Given the description of an element on the screen output the (x, y) to click on. 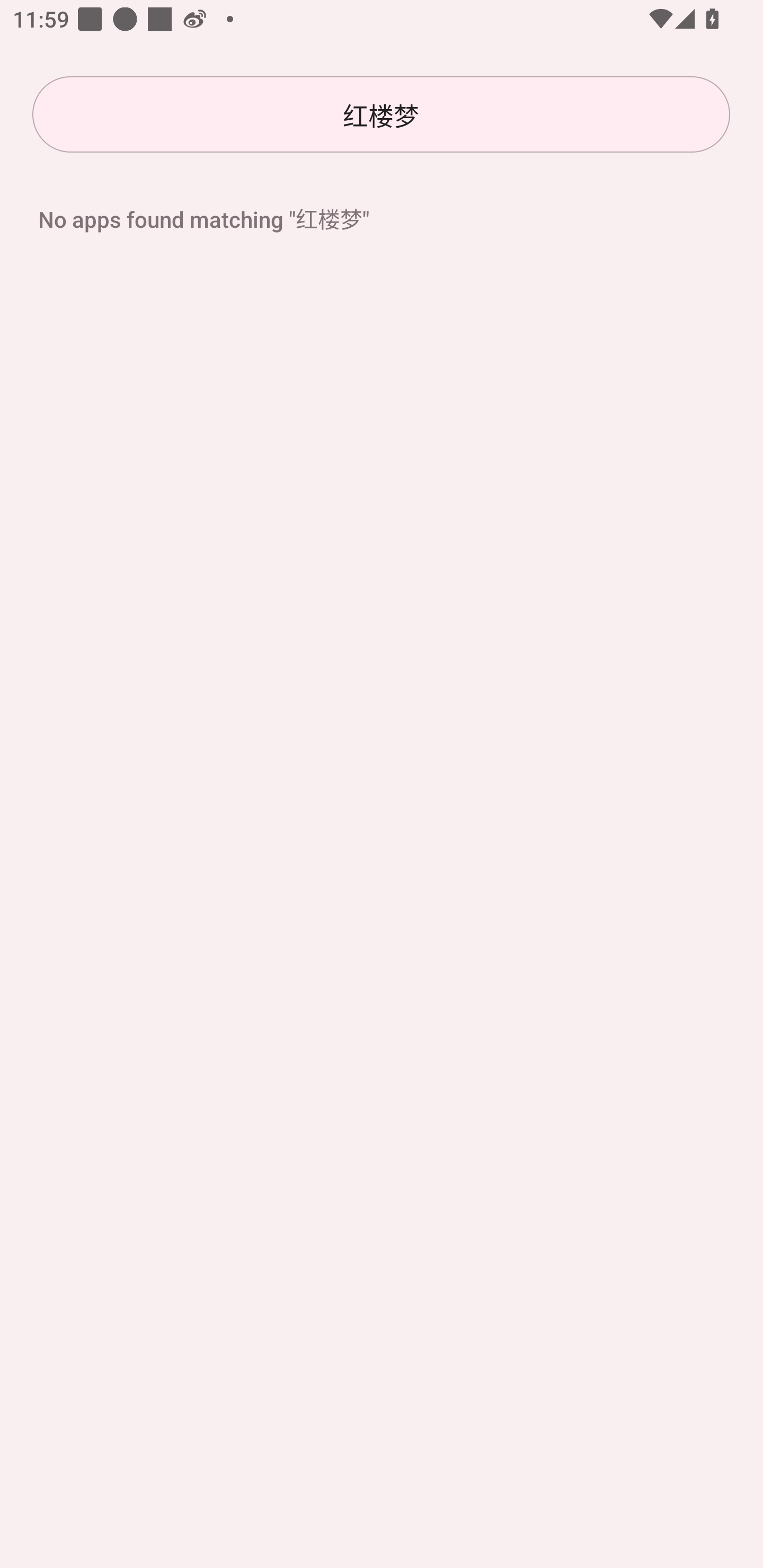
红楼梦 (381, 114)
